Given the description of an element on the screen output the (x, y) to click on. 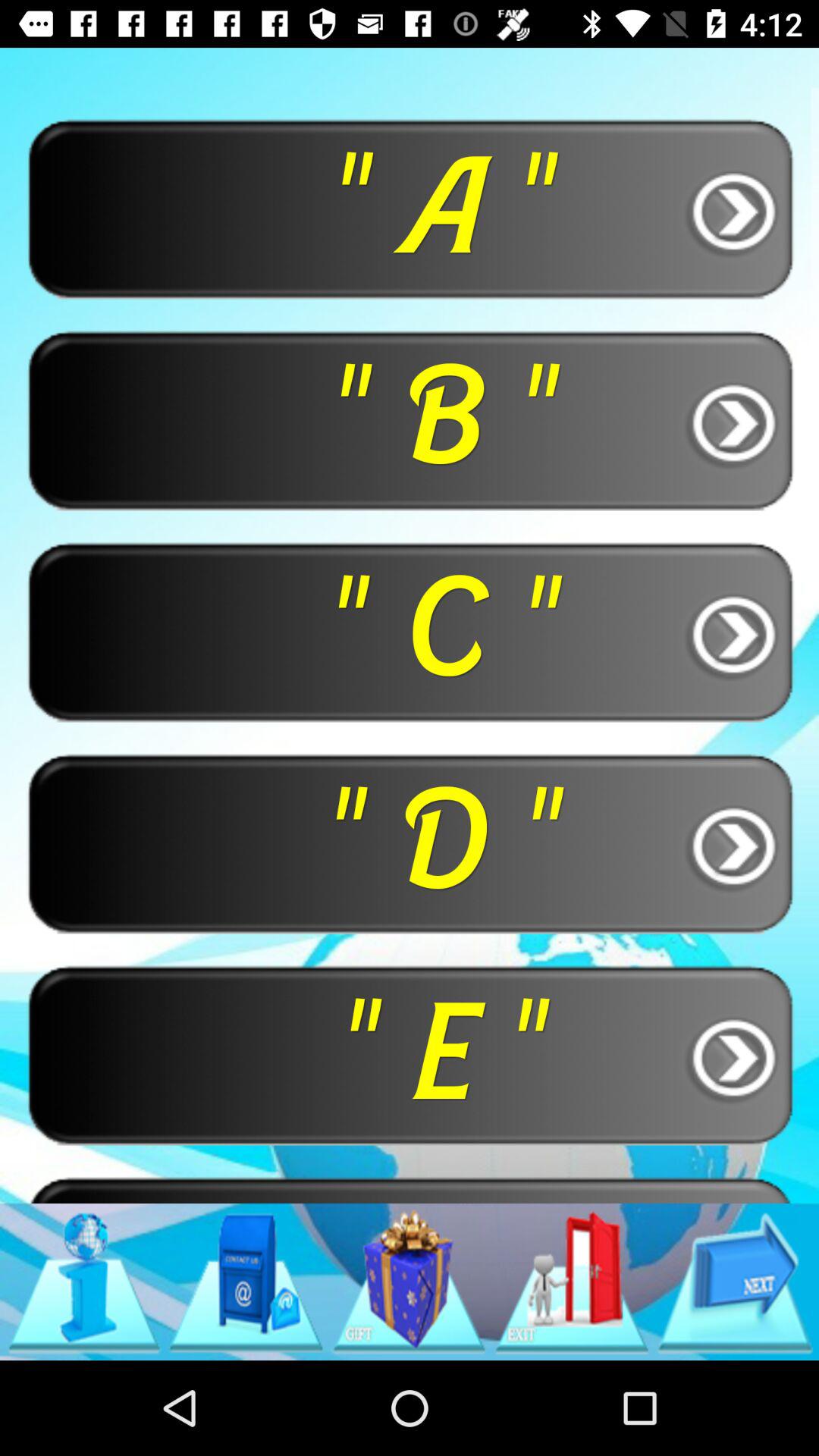
click the   " d " icon (409, 842)
